Given the description of an element on the screen output the (x, y) to click on. 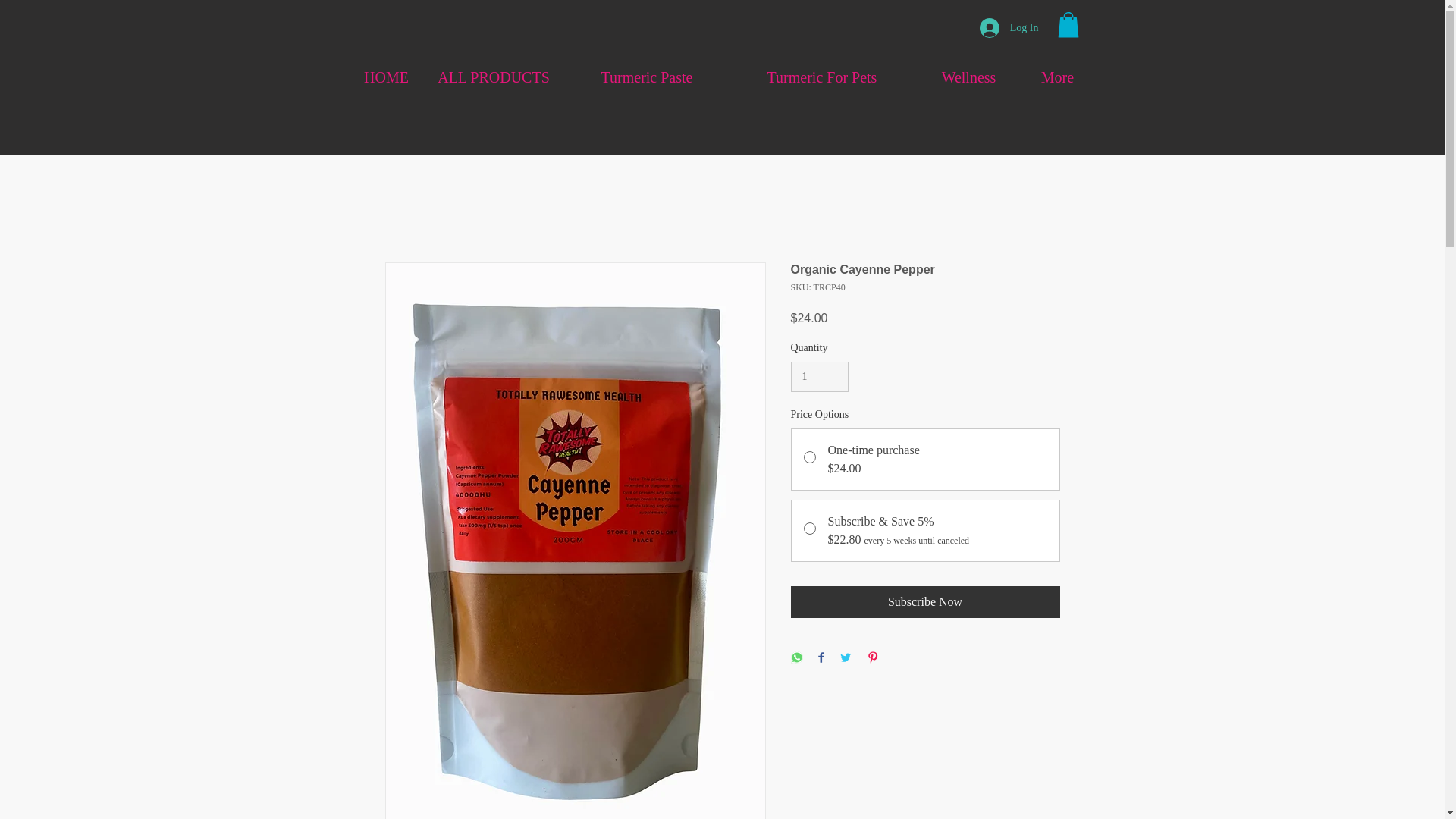
Subscribe Now (924, 602)
ALL PRODUCTS (493, 77)
1 (818, 377)
Wellness (968, 77)
Turmeric For Pets (821, 77)
Turmeric Paste (647, 77)
Log In (1009, 27)
HOME (386, 77)
